Given the description of an element on the screen output the (x, y) to click on. 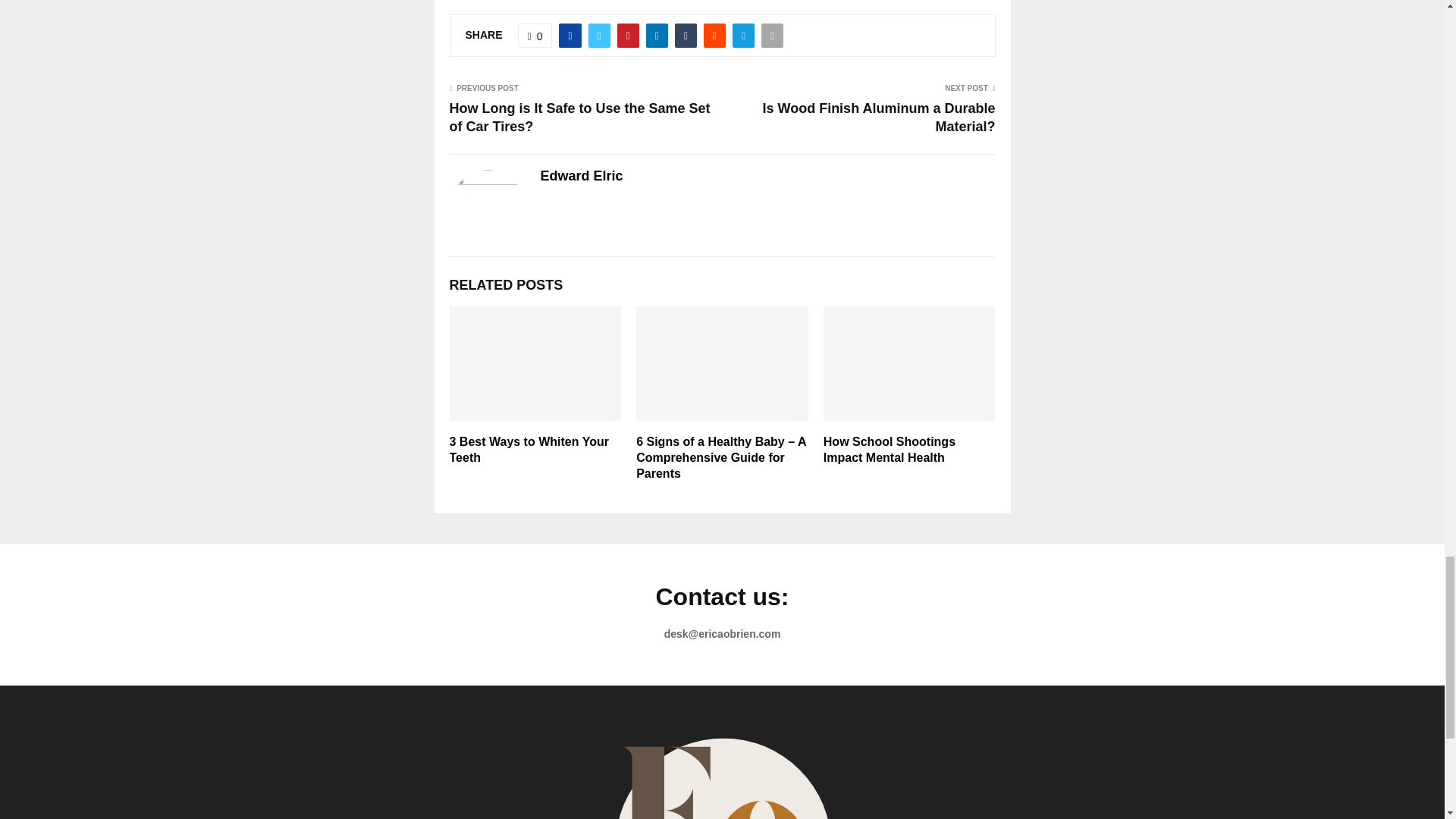
Like (535, 35)
